Given the description of an element on the screen output the (x, y) to click on. 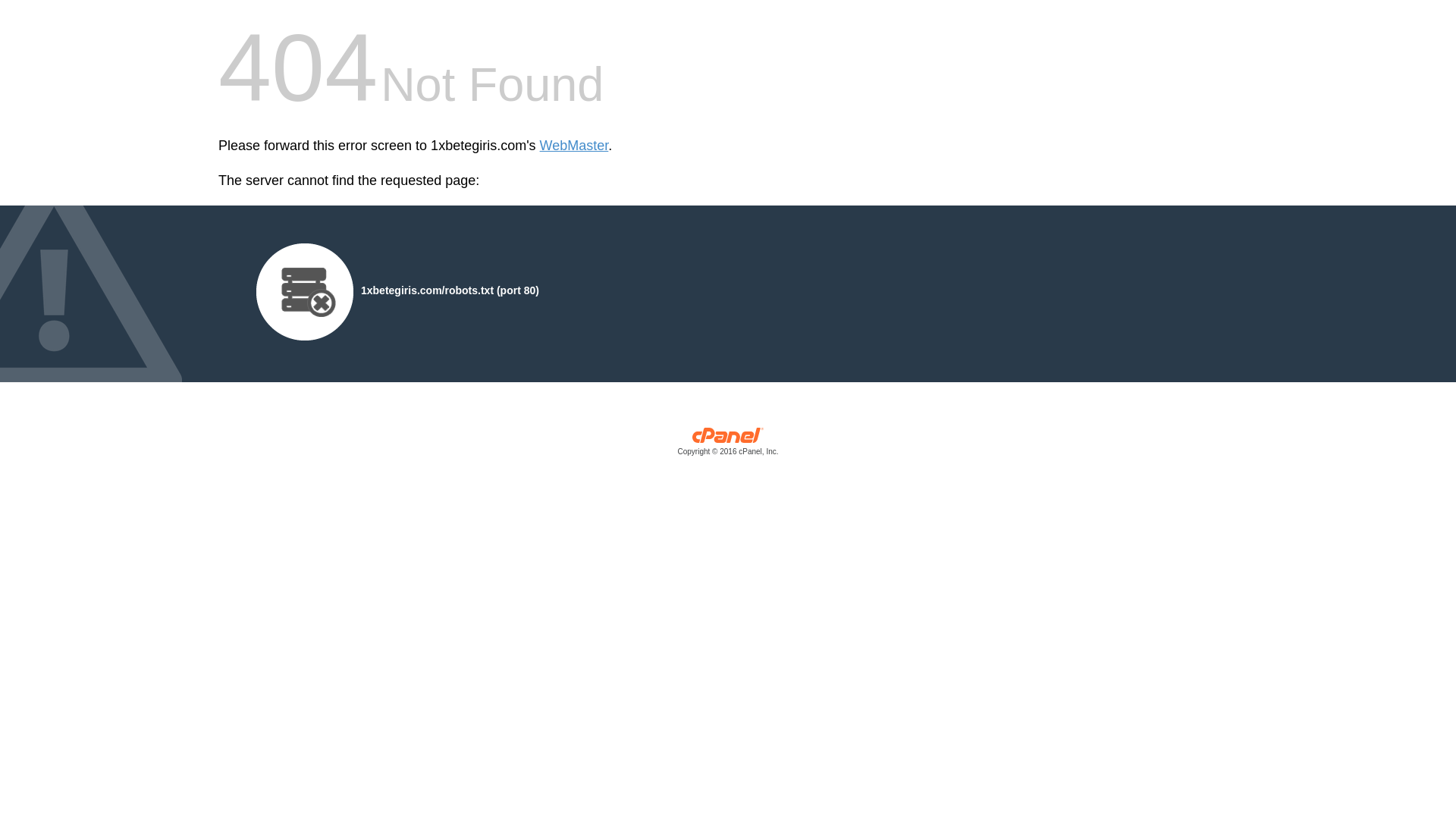
WebMaster Element type: text (573, 145)
